Given the description of an element on the screen output the (x, y) to click on. 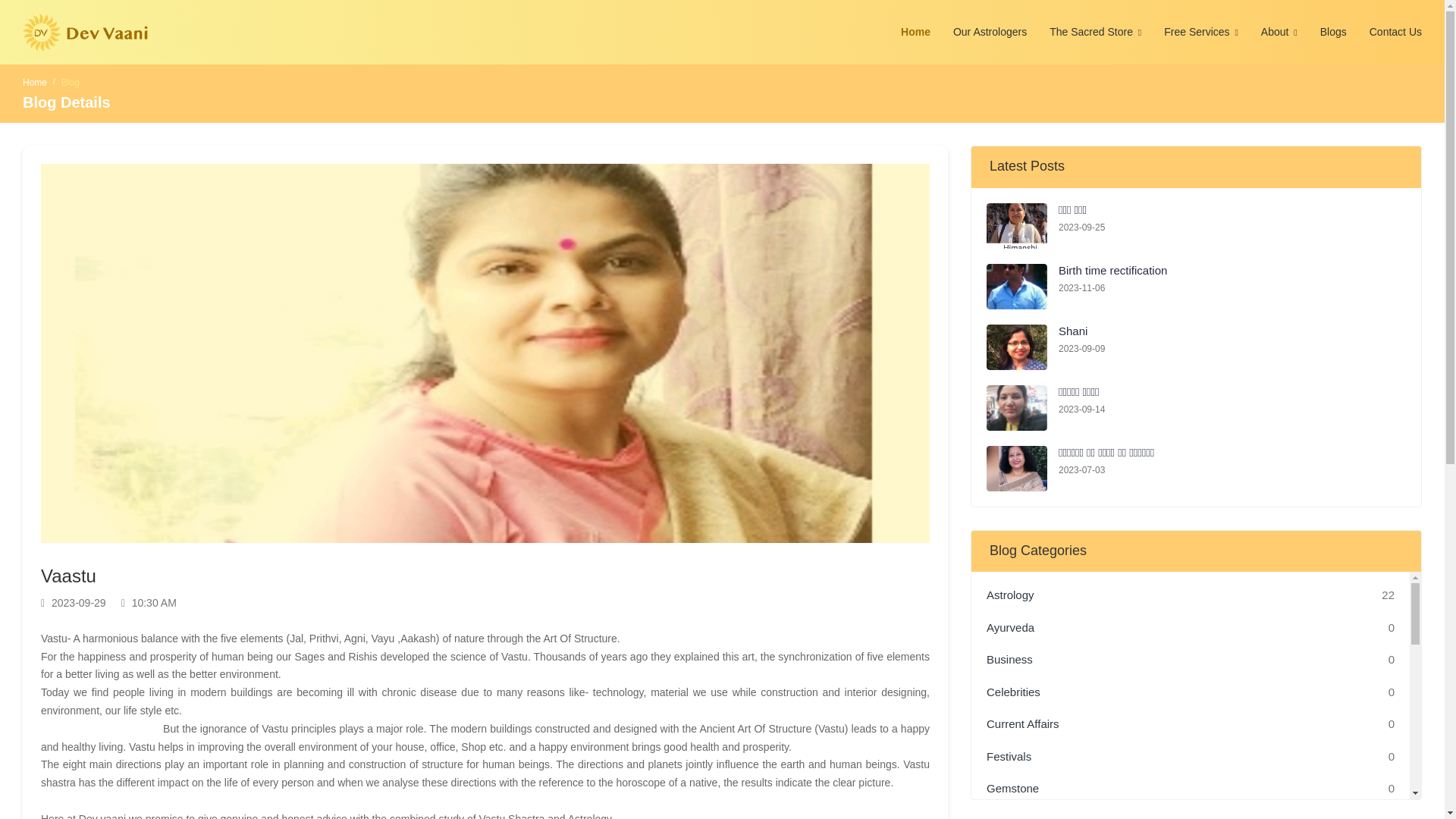
Our Astrologers (989, 32)
The Sacred Store (1095, 32)
Free Services (1201, 32)
